Given the description of an element on the screen output the (x, y) to click on. 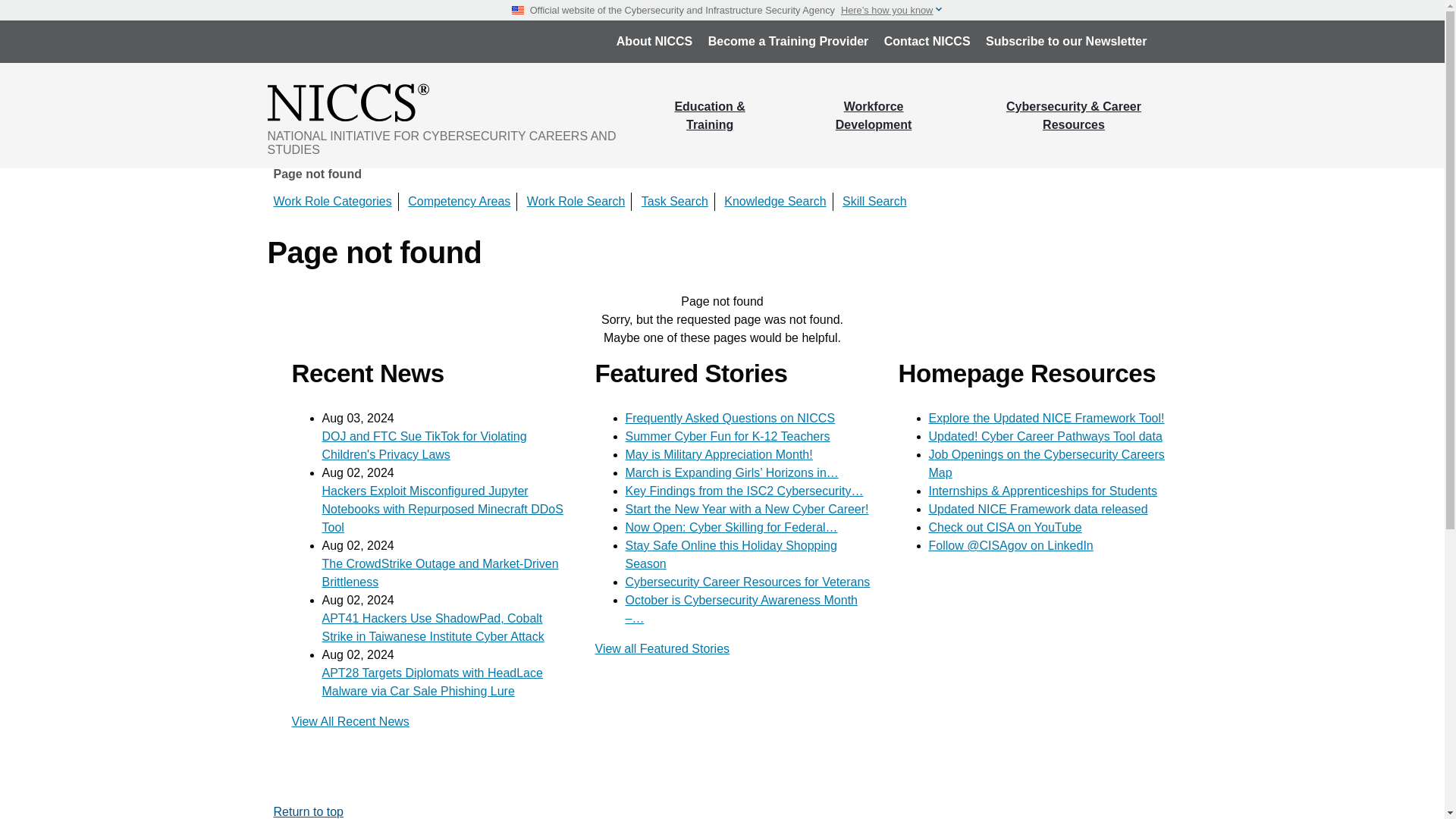
Job Openings on the Cybersecurity Careers Map (1045, 463)
About NICCS (654, 41)
View All Recent News (350, 721)
Updated! Cyber Career Pathways Tool data (1044, 436)
National Initiative for Cybersecurity Careers and Studies (454, 102)
Summer Cyber Fun for K-12 Teachers (726, 436)
Become a Training Provider (788, 41)
DOJ and FTC Sue TikTok for Violating Children's Privacy Laws (423, 445)
Work Role Categories (331, 201)
Stay Safe Online this Holiday Shopping Season (729, 554)
Updated NICE Framework data released (1037, 508)
Workforce Development (873, 115)
Competency Areas (458, 201)
Cybersecurity Career Resources for Veterans (746, 581)
